Given the description of an element on the screen output the (x, y) to click on. 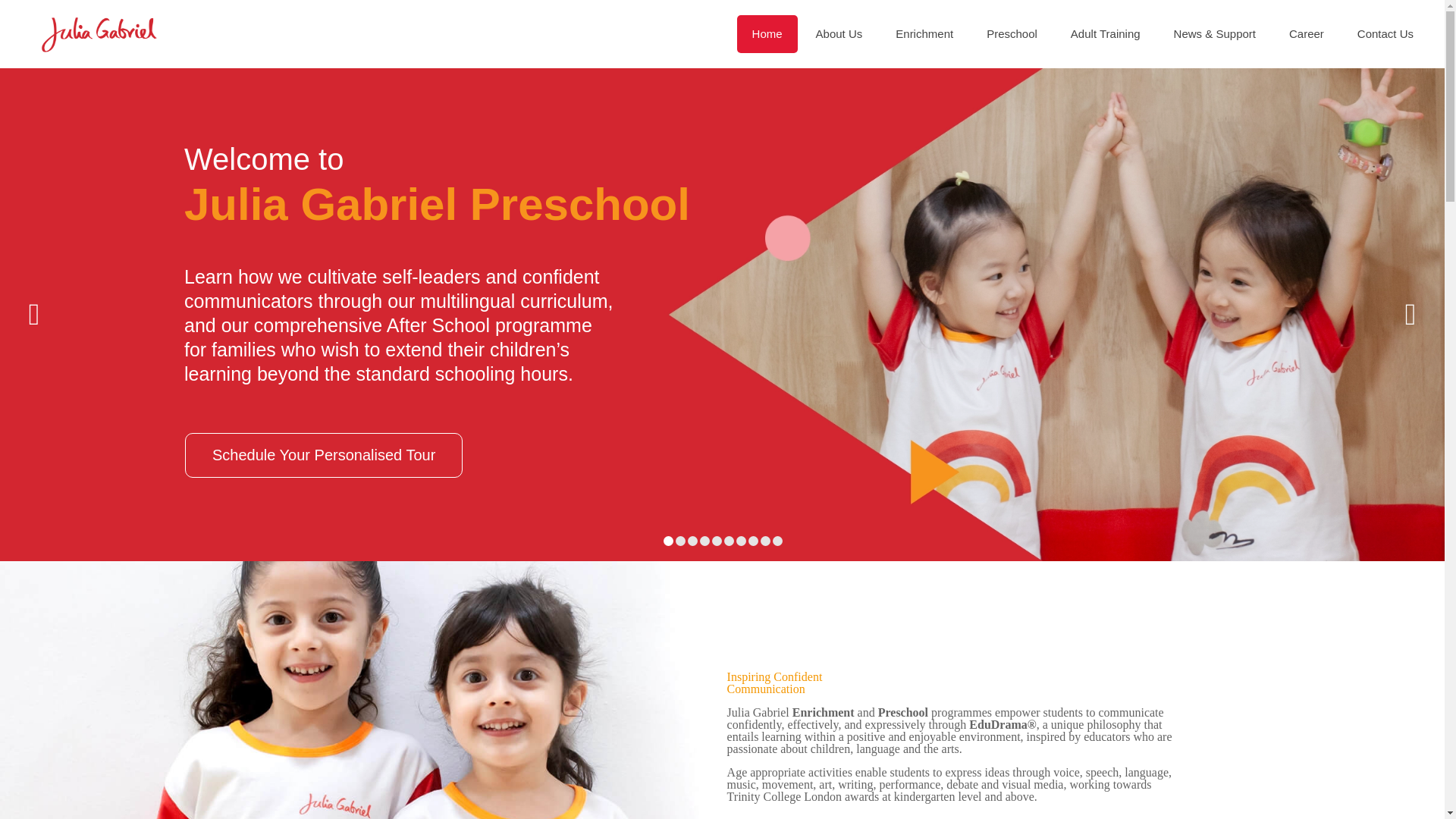
About Us (838, 34)
Adult Training (1105, 34)
Preschool (1011, 34)
Contact Us (1385, 34)
Home (766, 34)
Career (1306, 34)
Enrichment (924, 34)
